Given the description of an element on the screen output the (x, y) to click on. 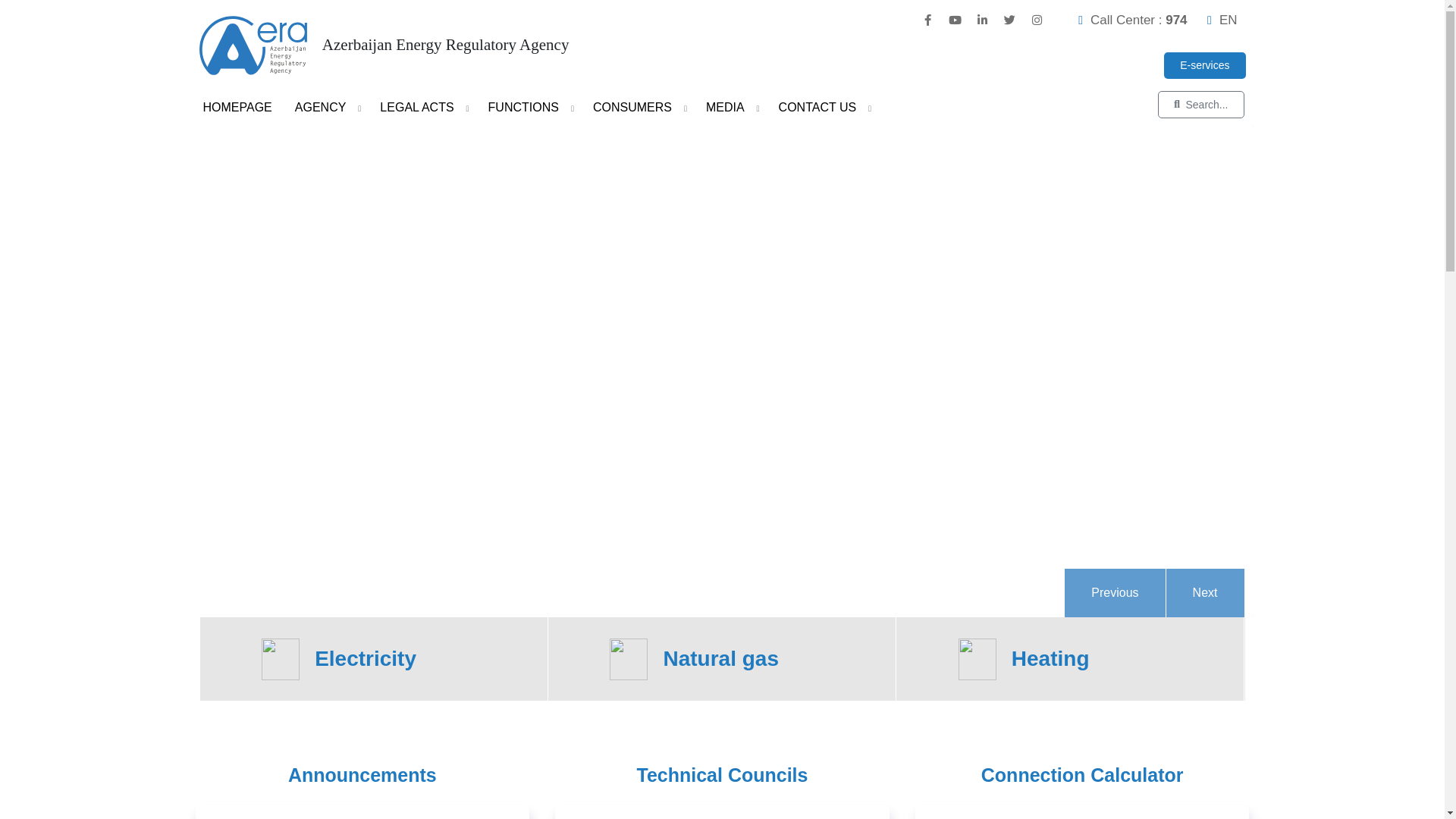
Heating Element type: text (1070, 658)
HOMEPAGE Element type: text (236, 107)
E-services Element type: text (1204, 64)
CONSUMERS Element type: text (637, 107)
MEDIA Element type: text (730, 107)
AGENCY Element type: text (326, 107)
CONTACT US Element type: text (823, 107)
Electricity Element type: text (374, 658)
Search... Element type: text (1200, 104)
LEGAL ACTS Element type: text (422, 107)
FUNCTIONS Element type: text (528, 107)
Natural gas Element type: text (722, 658)
